Given the description of an element on the screen output the (x, y) to click on. 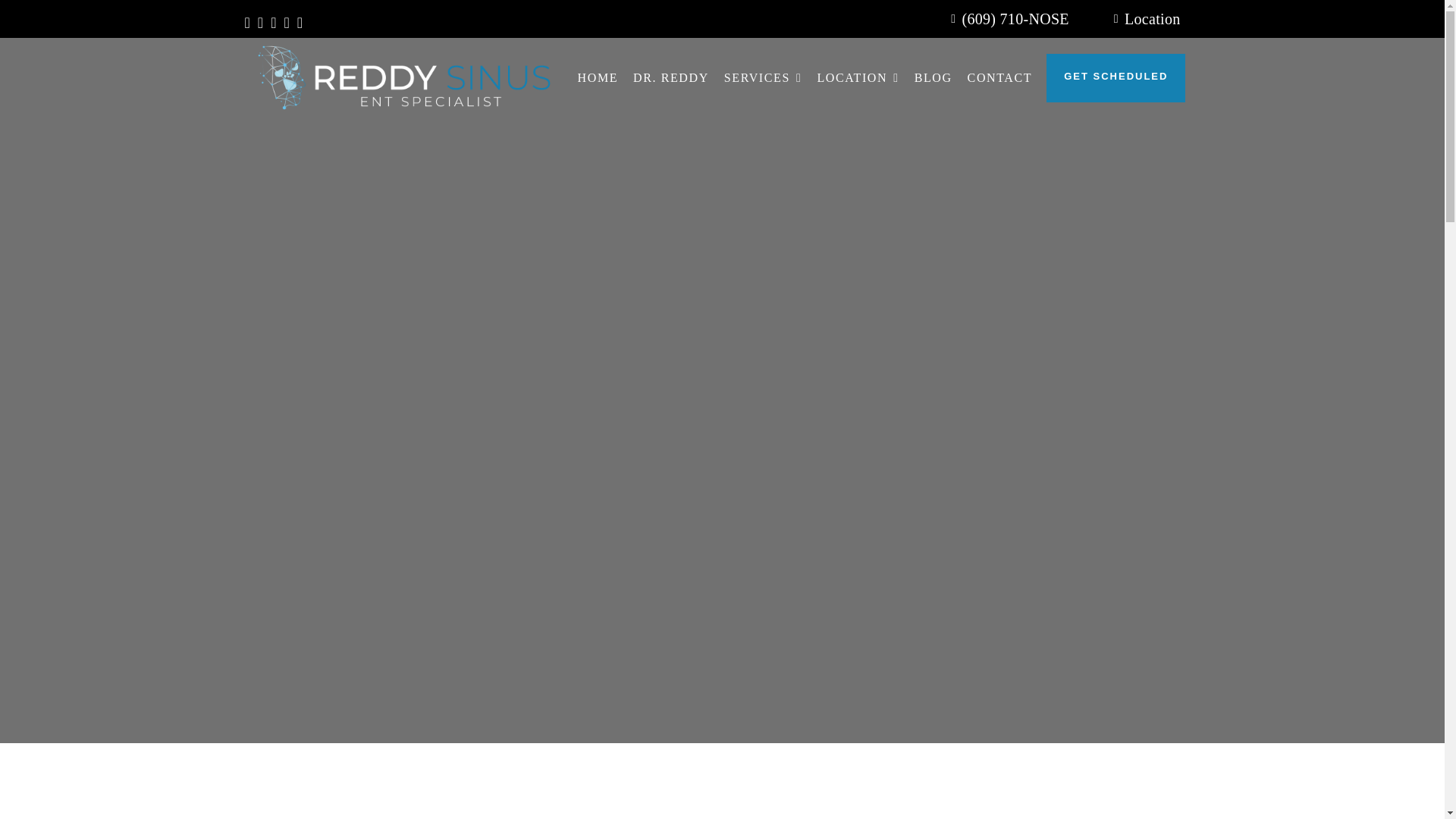
DR. REDDY (671, 77)
LOCATION (857, 77)
BLOG (933, 77)
HOME (598, 77)
SERVICES (762, 77)
CONTACT (1000, 77)
Location (1144, 18)
